Given the description of an element on the screen output the (x, y) to click on. 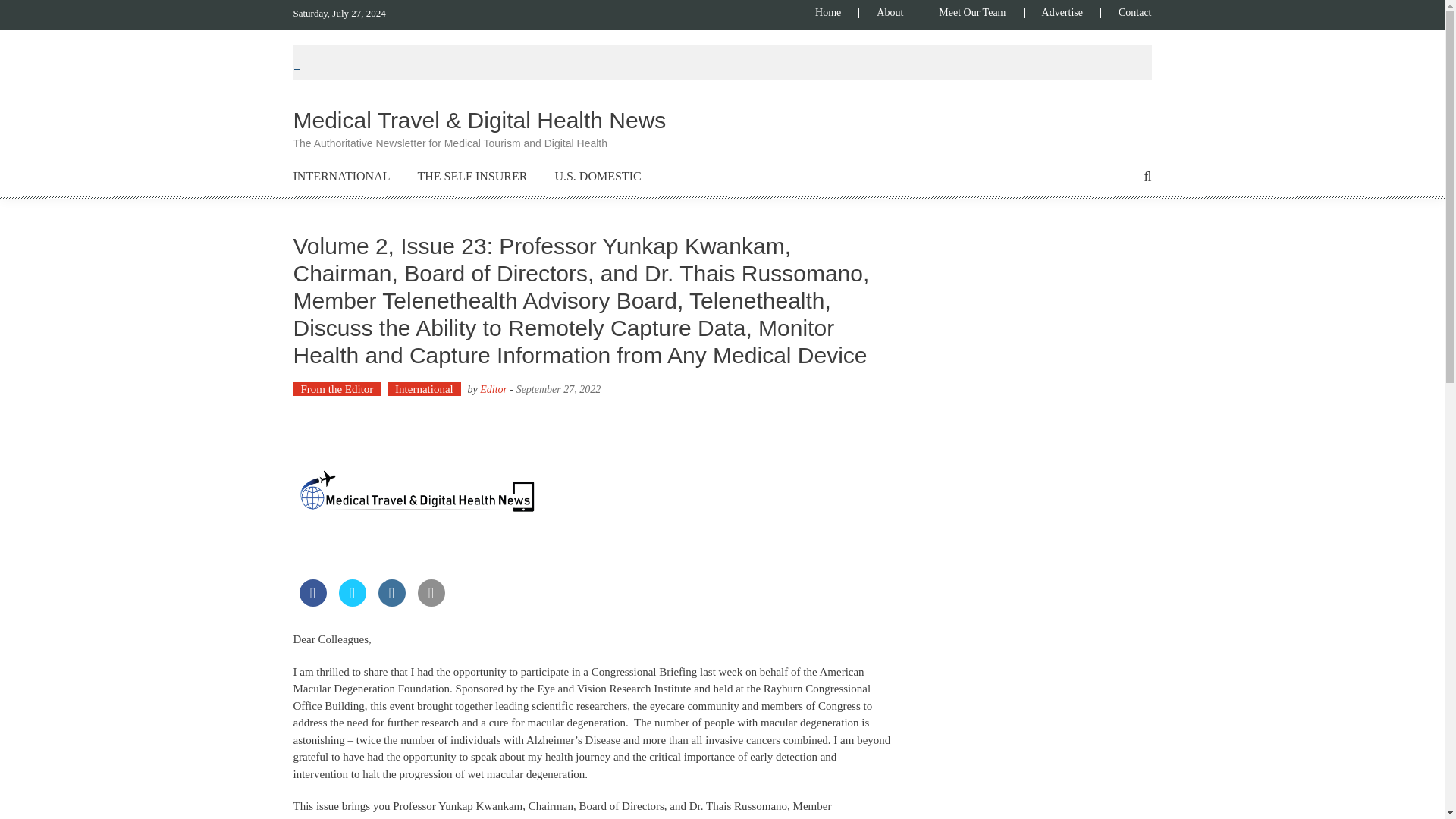
From the Editor (336, 388)
INTERNATIONAL (341, 176)
THE SELF INSURER (471, 176)
Share on Twitter (351, 601)
Home (837, 12)
Search (862, 422)
Share on LinkedIn (390, 601)
International (424, 388)
Share on Facebook (312, 601)
Meet Our Team (971, 12)
Share it on Email (430, 601)
Editor (493, 389)
Contact (1125, 12)
U.S. DOMESTIC (597, 176)
About (889, 12)
